Given the description of an element on the screen output the (x, y) to click on. 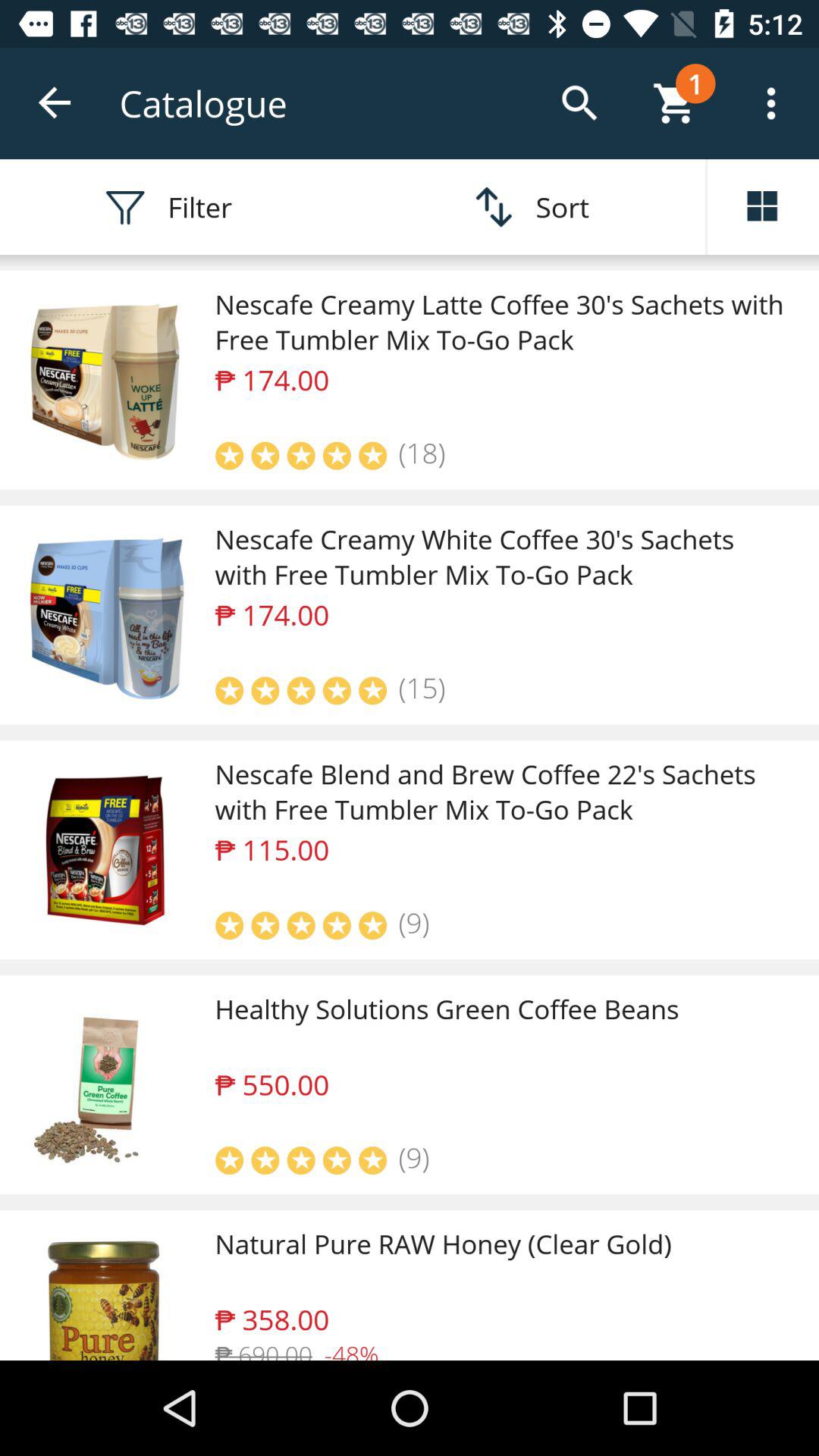
go back (55, 103)
